Given the description of an element on the screen output the (x, y) to click on. 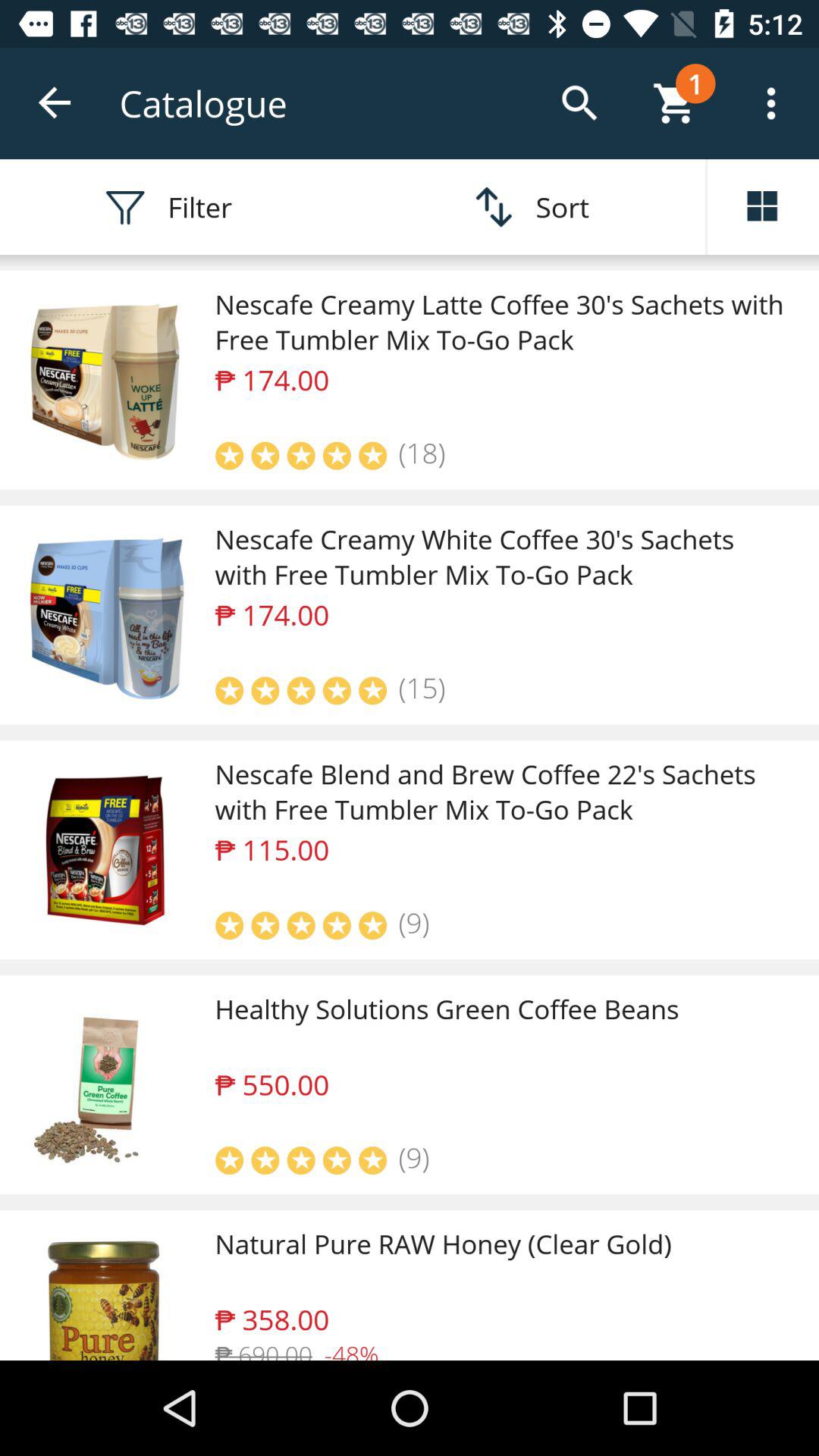
go back (55, 103)
